Given the description of an element on the screen output the (x, y) to click on. 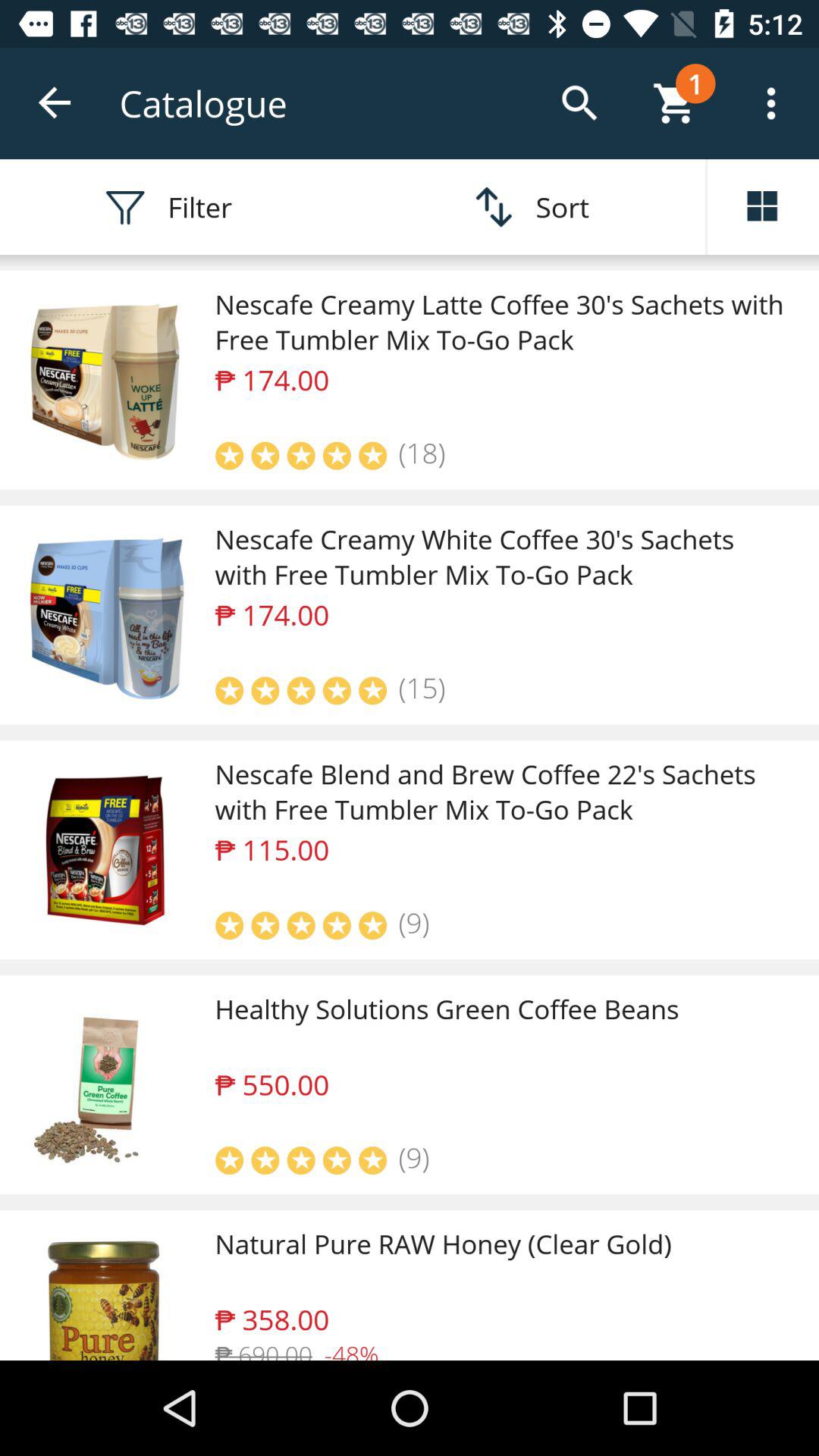
go back (55, 103)
